Given the description of an element on the screen output the (x, y) to click on. 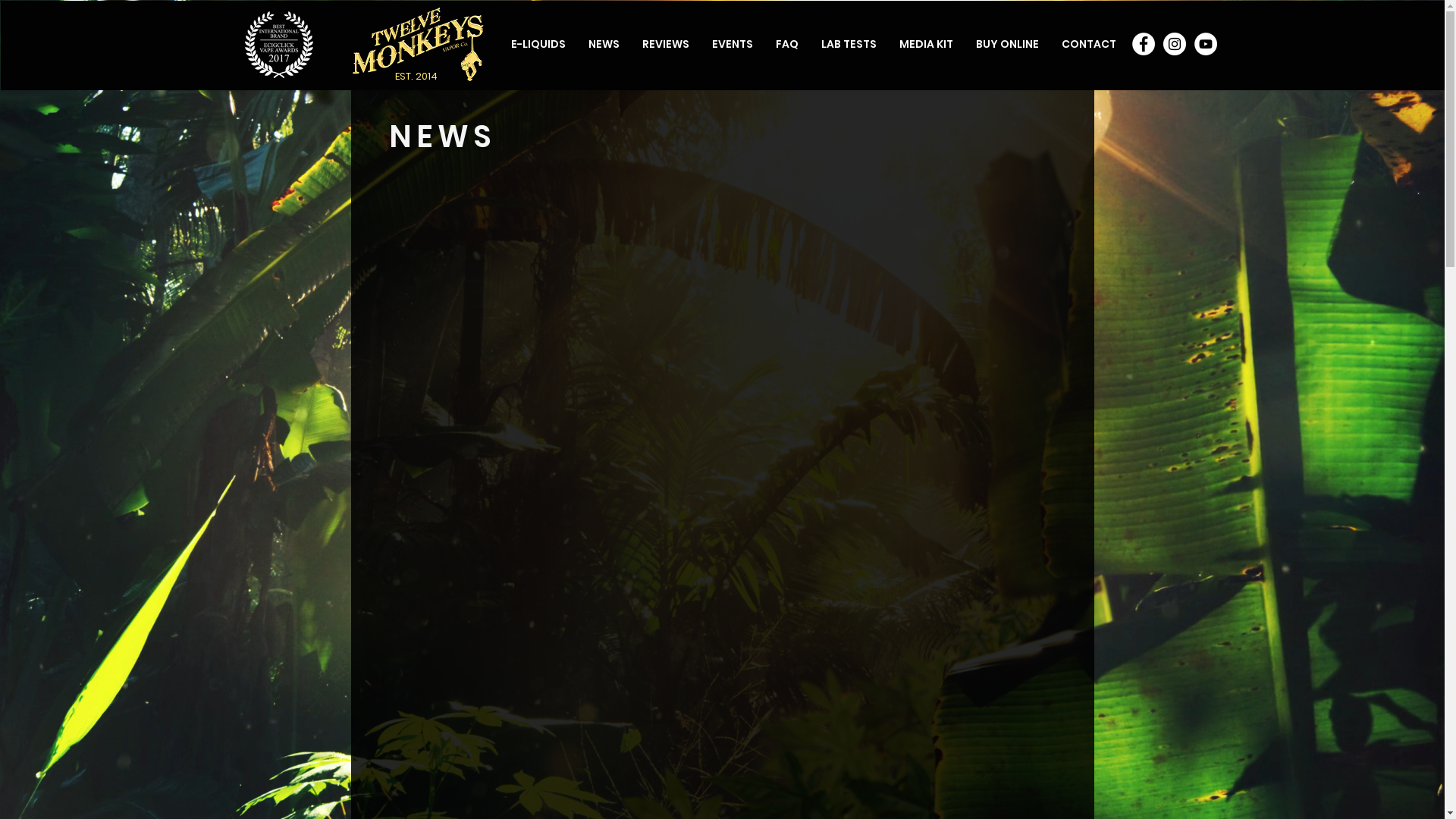
FAQ Element type: text (786, 43)
BUY ONLINE Element type: text (1007, 43)
EVENTS Element type: text (732, 43)
NEWS Element type: text (603, 43)
MEDIA KIT Element type: text (925, 43)
REVIEWS Element type: text (665, 43)
LAB TESTS Element type: text (848, 43)
